Given the description of an element on the screen output the (x, y) to click on. 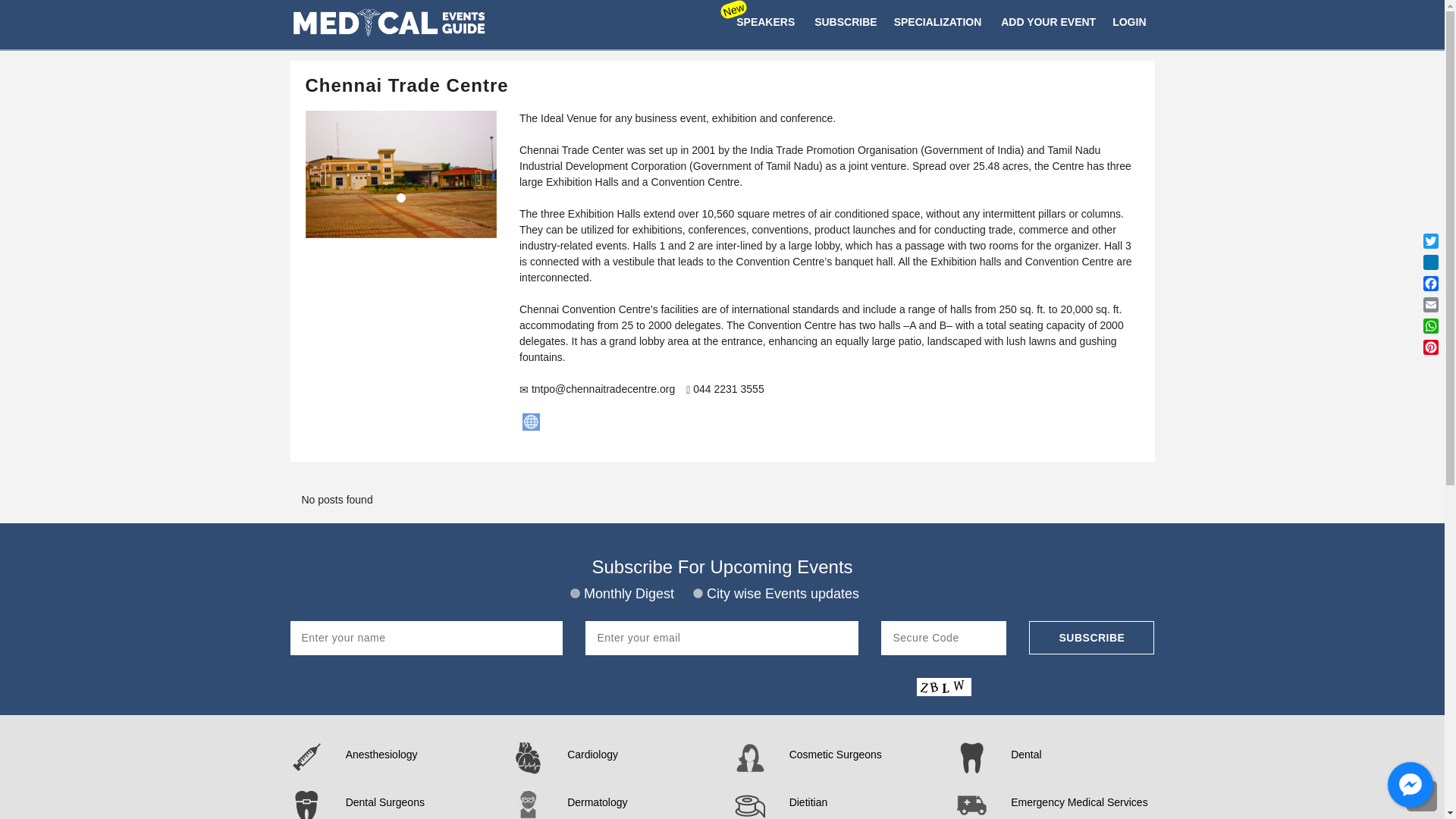
SUBSCRIBE (845, 22)
Subscribe (1091, 637)
monthy (574, 593)
Dietitian (861, 802)
Dental (1082, 754)
Dental Surgeons (417, 802)
citywise (698, 593)
Anesthesiology (417, 754)
Emergency Medical Services (1082, 802)
Subscribe (1091, 637)
